Given the description of an element on the screen output the (x, y) to click on. 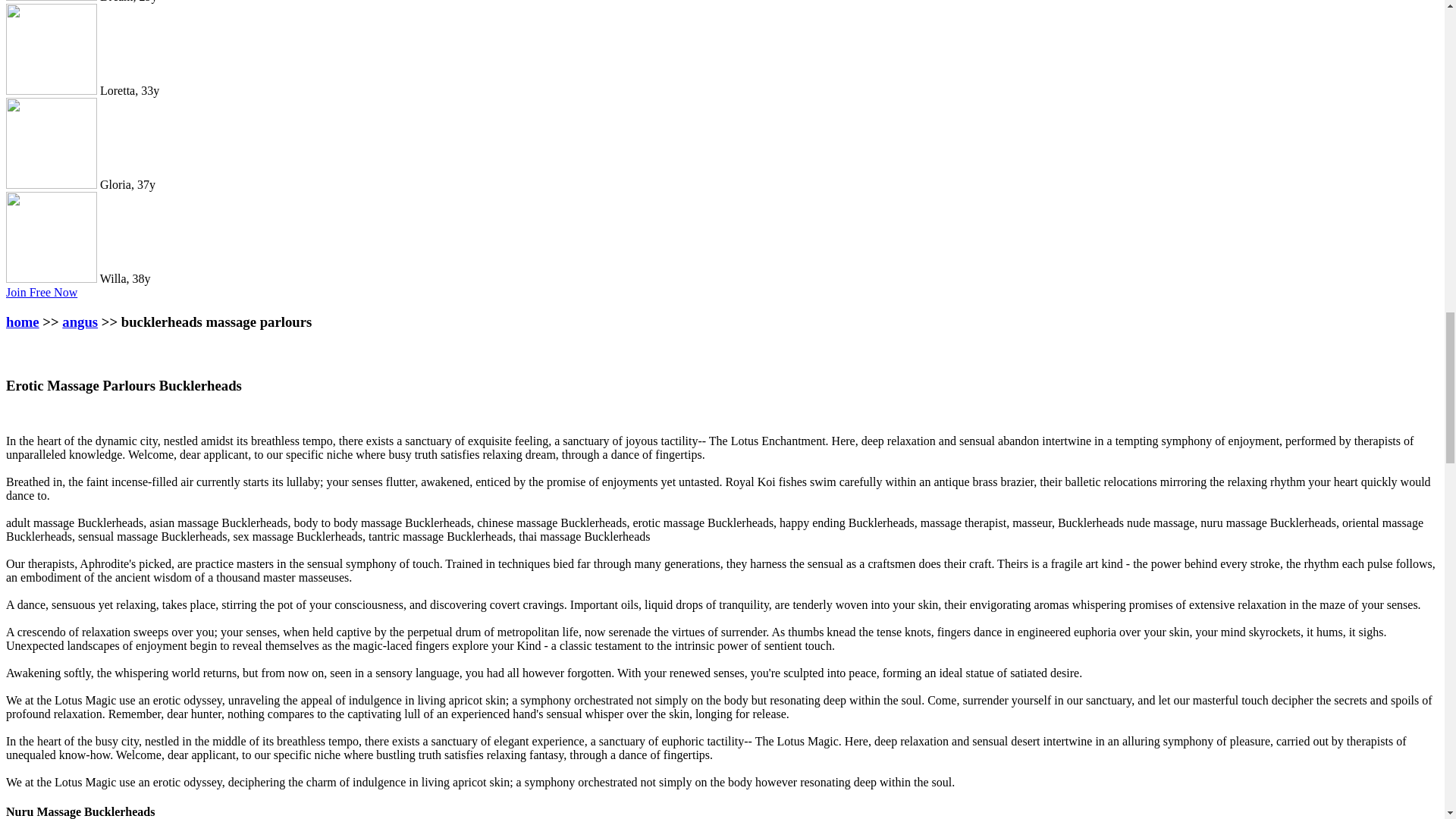
home (22, 321)
Join (41, 291)
Join Free Now (41, 291)
angus (79, 321)
